Given the description of an element on the screen output the (x, y) to click on. 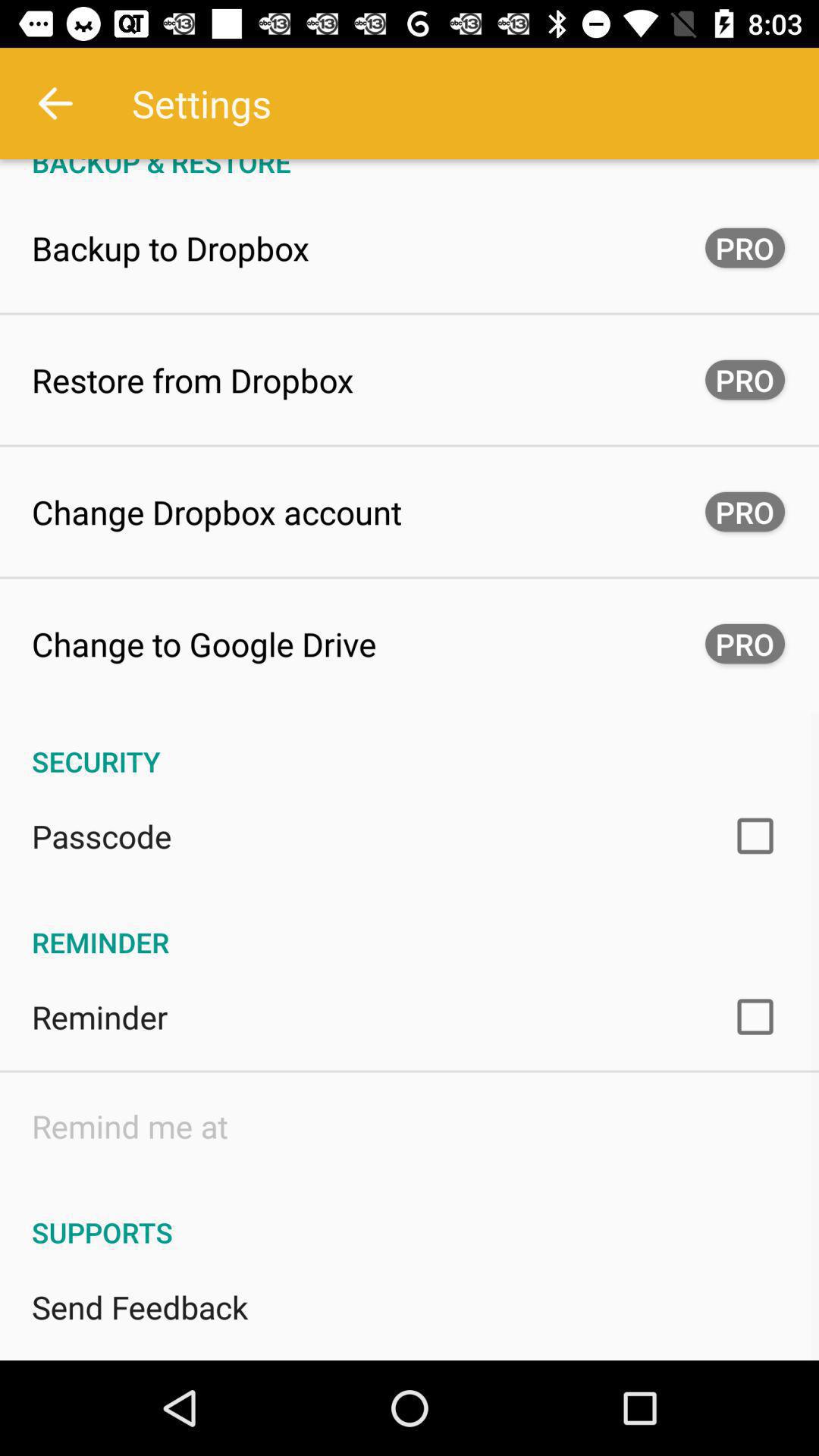
choose remind me at icon (129, 1125)
